Given the description of an element on the screen output the (x, y) to click on. 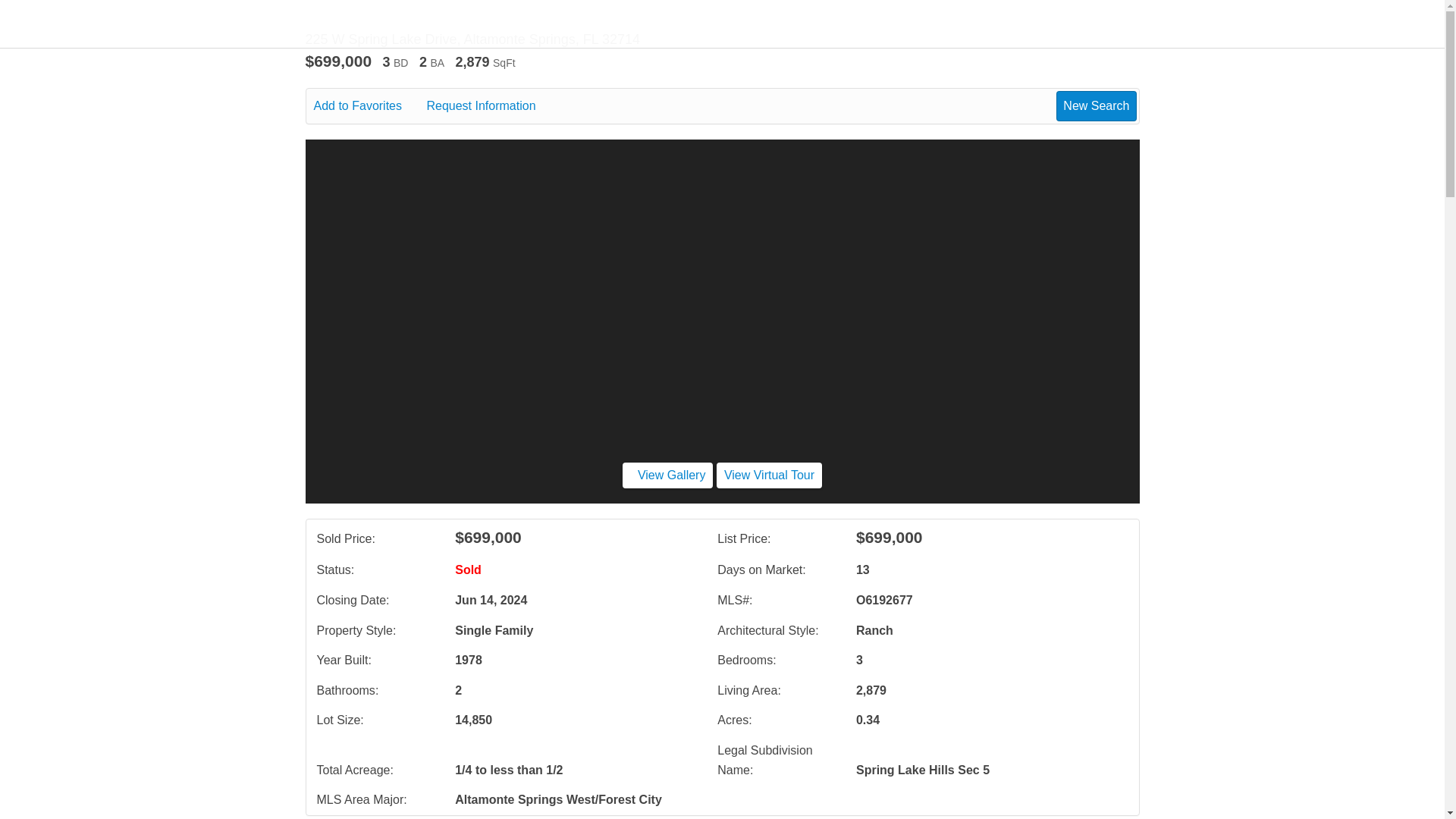
Request Information (491, 106)
New Search (1096, 105)
View Virtual Tour (769, 474)
View Gallery (668, 474)
View Gallery (668, 475)
View Virtual Tour (769, 475)
Add to Favorites (368, 106)
